Given the description of an element on the screen output the (x, y) to click on. 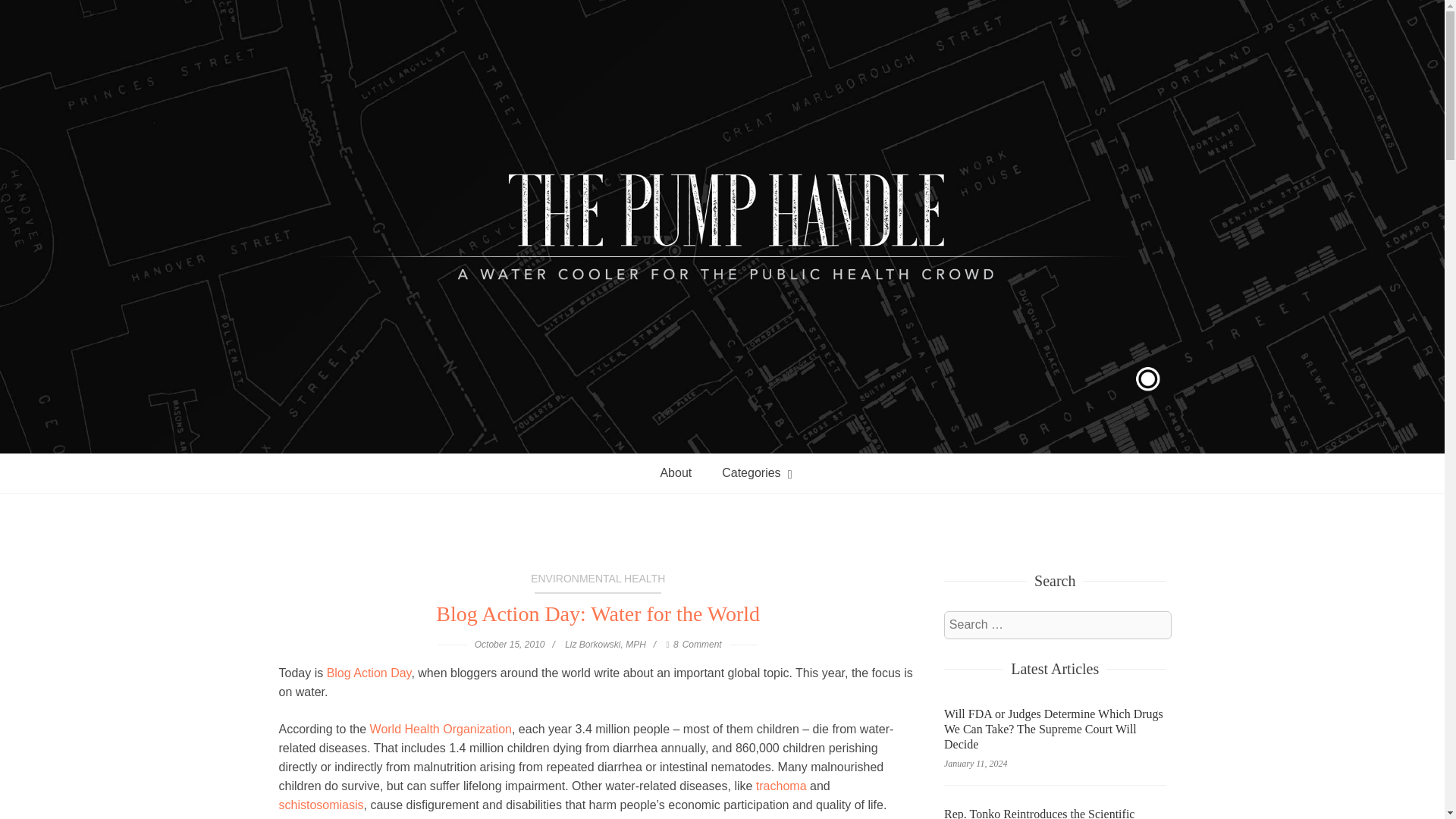
ENVIRONMENTAL HEALTH (598, 581)
Blog Action Day (369, 672)
Blog Action Day: Water for the World (598, 613)
Search for: (1057, 624)
About (675, 473)
